Given the description of an element on the screen output the (x, y) to click on. 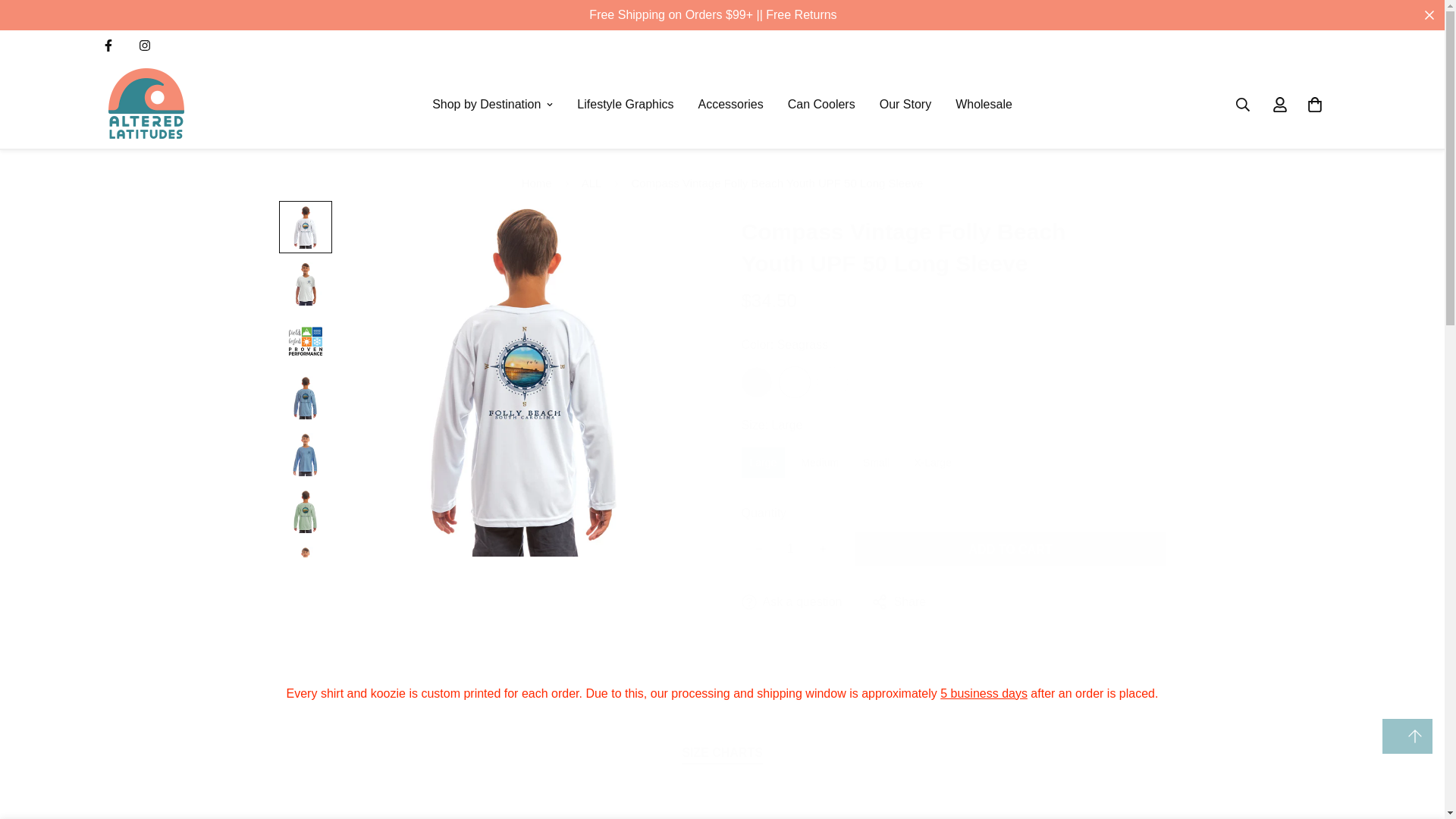
Lifestyle Graphics (624, 104)
Our Story (905, 104)
1 (789, 548)
SIZE CHARTS (721, 752)
Can Coolers (821, 104)
Accessories (729, 104)
Shop by Destination (492, 104)
Back to the home page (537, 183)
